Given the description of an element on the screen output the (x, y) to click on. 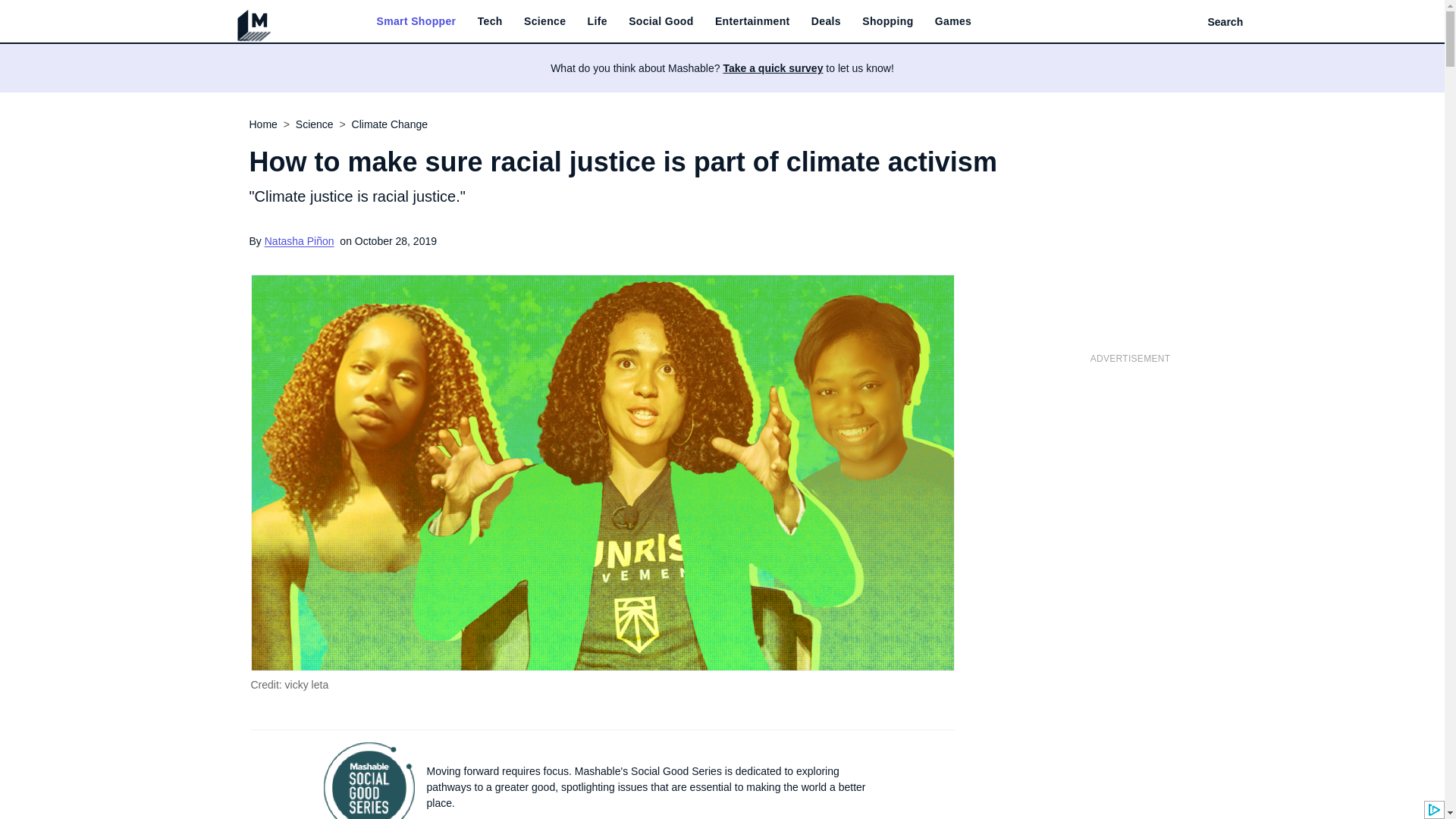
Life (597, 21)
Social Good (661, 21)
Science (545, 21)
Deals (825, 21)
Tech (489, 21)
Entertainment (752, 21)
Smart Shopper (415, 21)
Games (952, 21)
Shopping (886, 21)
